Given the description of an element on the screen output the (x, y) to click on. 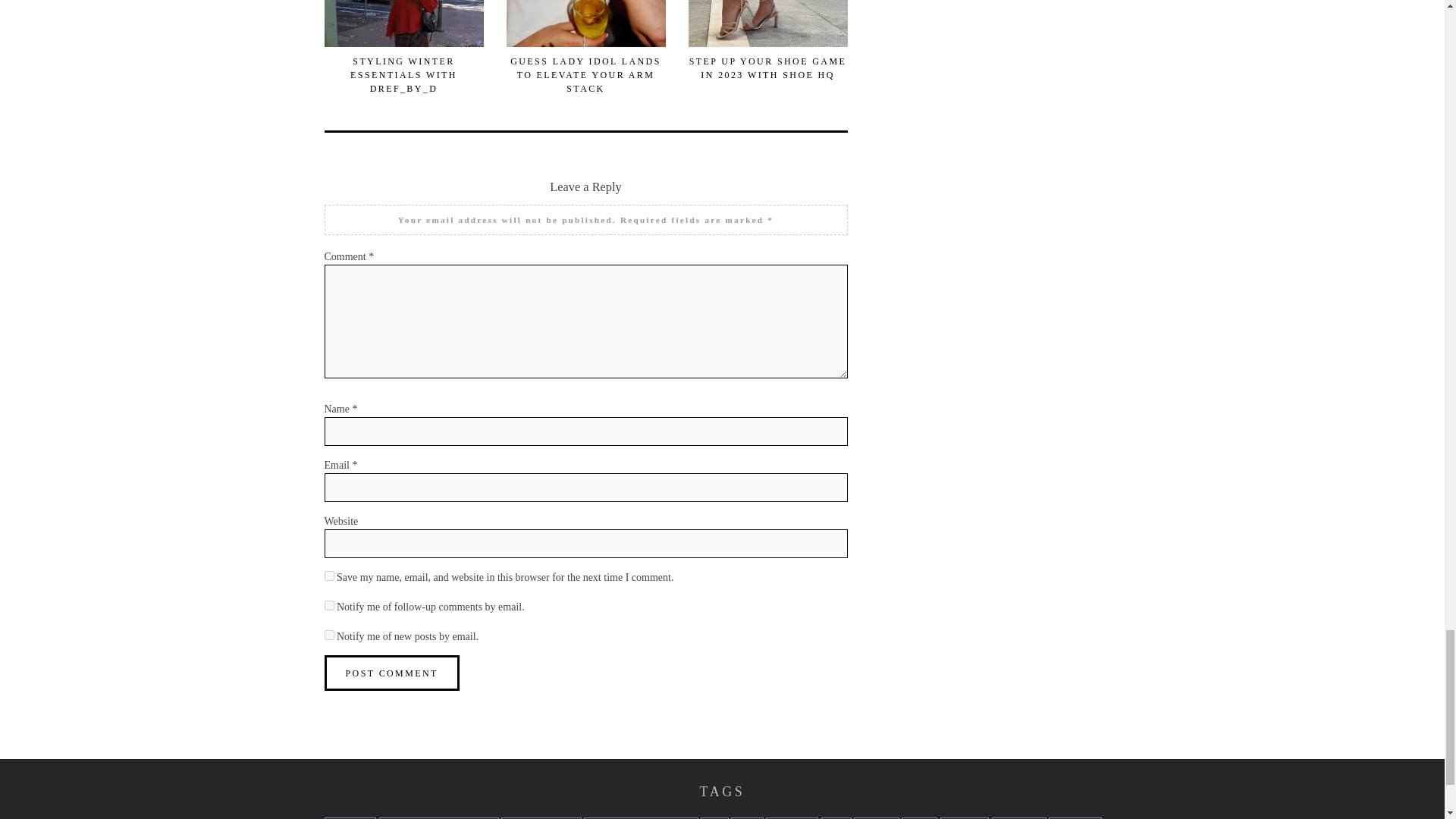
subscribe (329, 634)
Post Comment (392, 673)
subscribe (329, 605)
yes (329, 575)
